Given the description of an element on the screen output the (x, y) to click on. 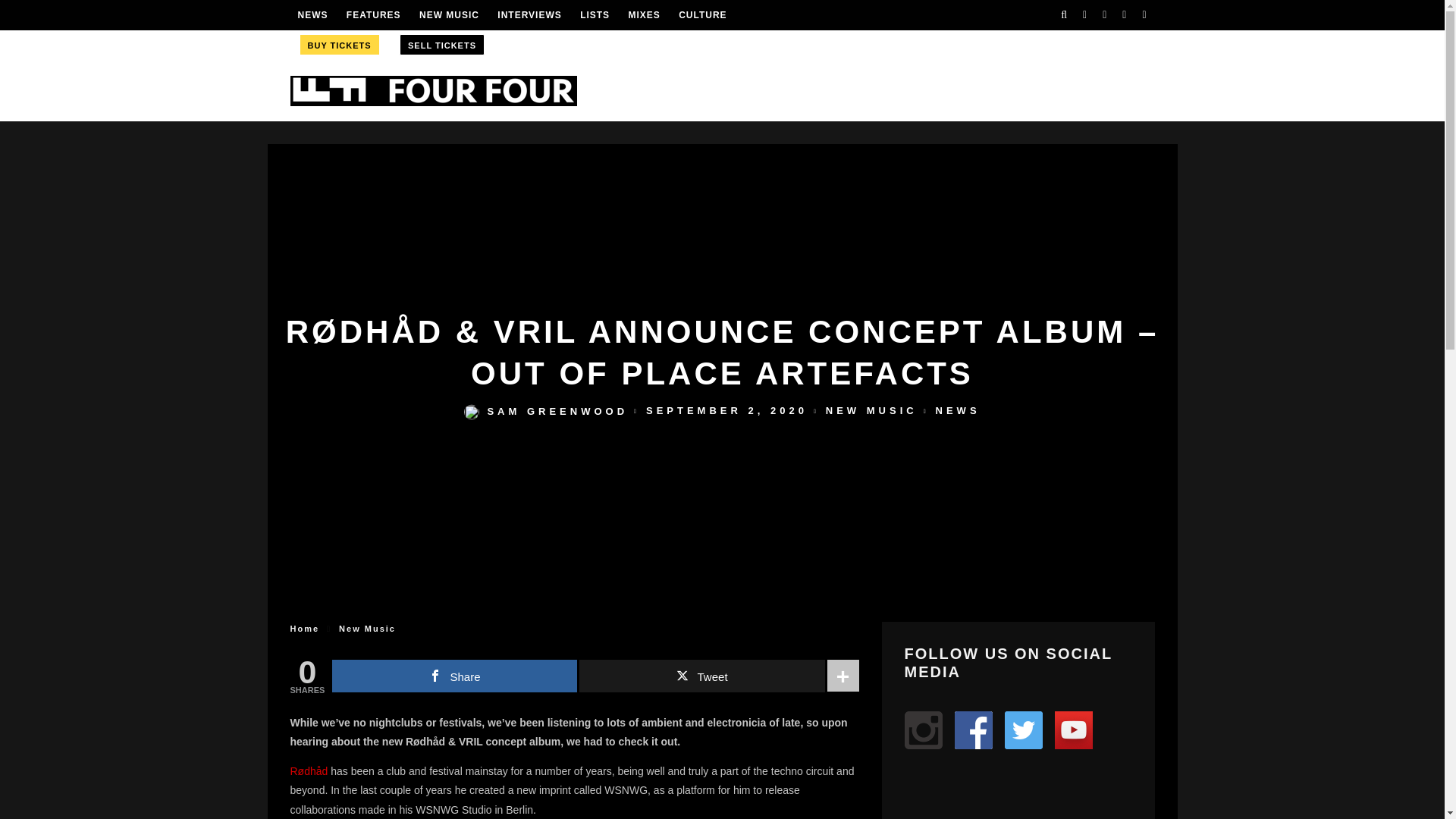
New Music (367, 628)
NEWS (957, 410)
Tweet (701, 676)
SAM GREENWOOD (545, 410)
BUY TICKETS (338, 44)
NEWS (312, 15)
NEW MUSIC (449, 15)
Home (303, 628)
NEW MUSIC (871, 410)
FEATURES (373, 15)
SELL TICKETS (441, 44)
MIXES (643, 15)
INTERVIEWS (528, 15)
View all posts in New Music (871, 410)
CULTURE (702, 15)
